Given the description of an element on the screen output the (x, y) to click on. 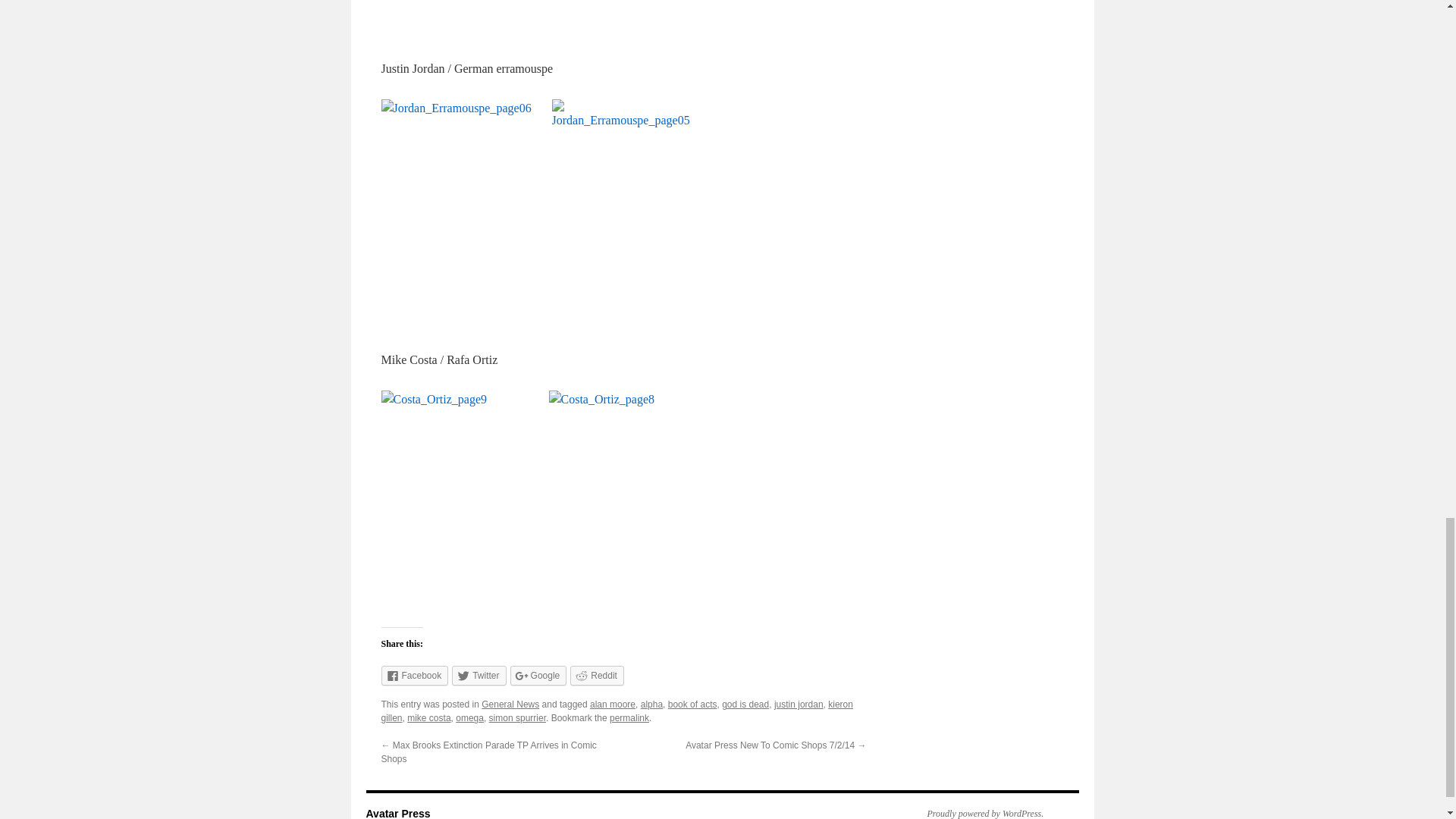
omega (469, 717)
book of acts (692, 704)
simon spurrier (517, 717)
mike costa (428, 717)
Reddit (597, 675)
kieron gillen (615, 711)
Google (539, 675)
god is dead (745, 704)
Facebook (414, 675)
permalink (629, 717)
General News (509, 704)
Twitter (478, 675)
justin jordan (799, 704)
alan moore (611, 704)
Permalink to God is Dead: Book of Acts Preview Pages (629, 717)
